Given the description of an element on the screen output the (x, y) to click on. 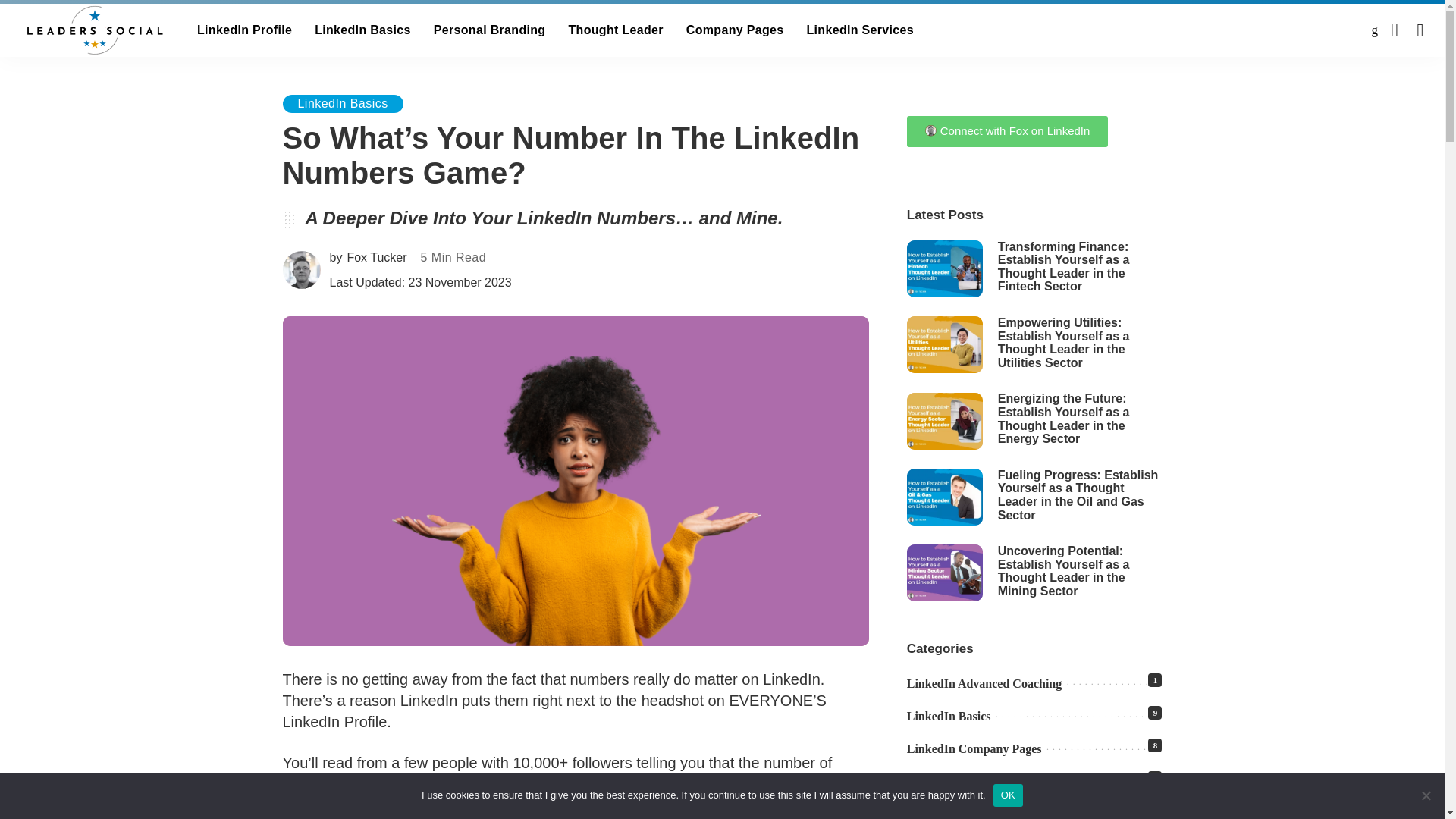
LinkedIn Profile (244, 30)
Search (1408, 77)
Personal Branding On LinkedIn (489, 30)
Thought Leader (615, 30)
Personal Branding (489, 30)
LinkedIn Basics Training (362, 30)
Leaders Social (94, 30)
Company Pages (734, 30)
LinkedIn Basics (362, 30)
LinkedIn Services (859, 30)
LinkedIn Profile Optimization (244, 30)
